Given the description of an element on the screen output the (x, y) to click on. 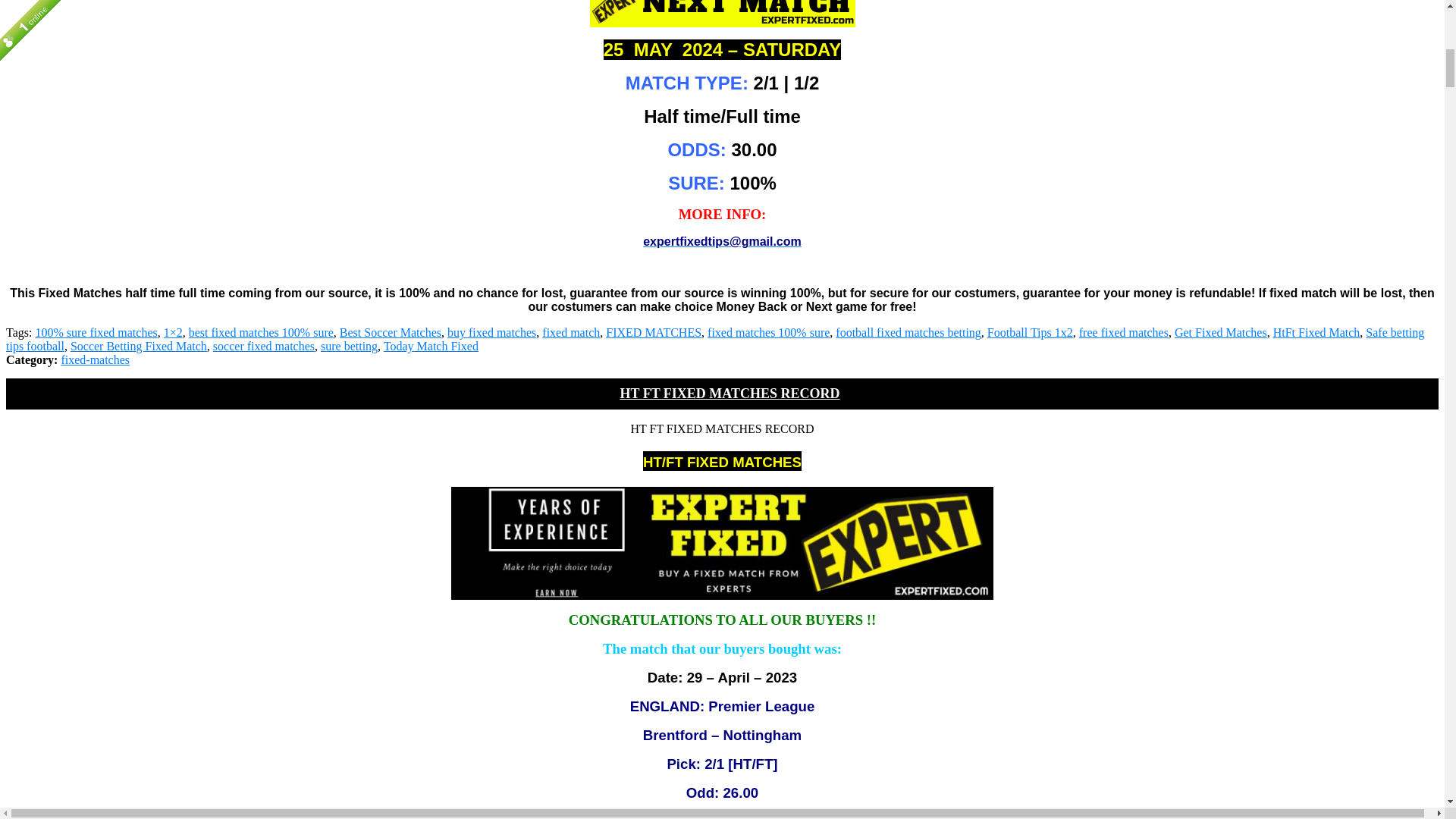
football fixed matches betting (908, 332)
soccer fixed matches (263, 345)
Safe betting tips football (714, 338)
free fixed matches (1123, 332)
HtFt Fixed Match (1315, 332)
sure betting (348, 345)
buy fixed matches (490, 332)
Football Tips 1x2 (1030, 332)
Soccer Betting Fixed Match (137, 345)
HT FT FIXED MATCHES (721, 542)
FIXED MATCHES (653, 332)
fixed match (570, 332)
Best Soccer Matches (390, 332)
HT FT FIXED MATCHES (722, 13)
Get Fixed Matches (1220, 332)
